Given the description of an element on the screen output the (x, y) to click on. 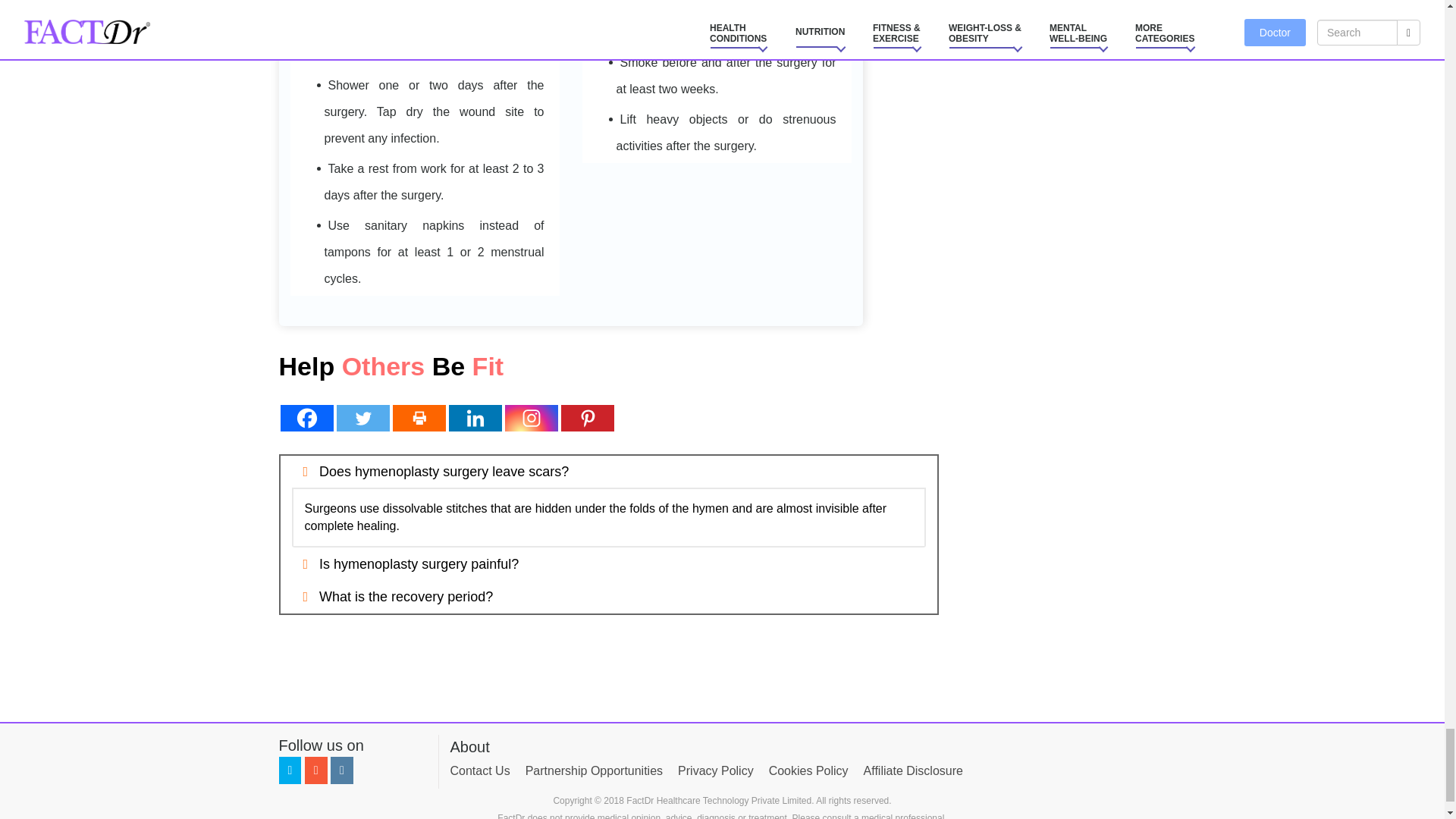
Facebook (307, 417)
Pinterest (587, 417)
Print (419, 417)
Linkedin (475, 417)
Twitter (363, 417)
Instagram (531, 417)
